Given the description of an element on the screen output the (x, y) to click on. 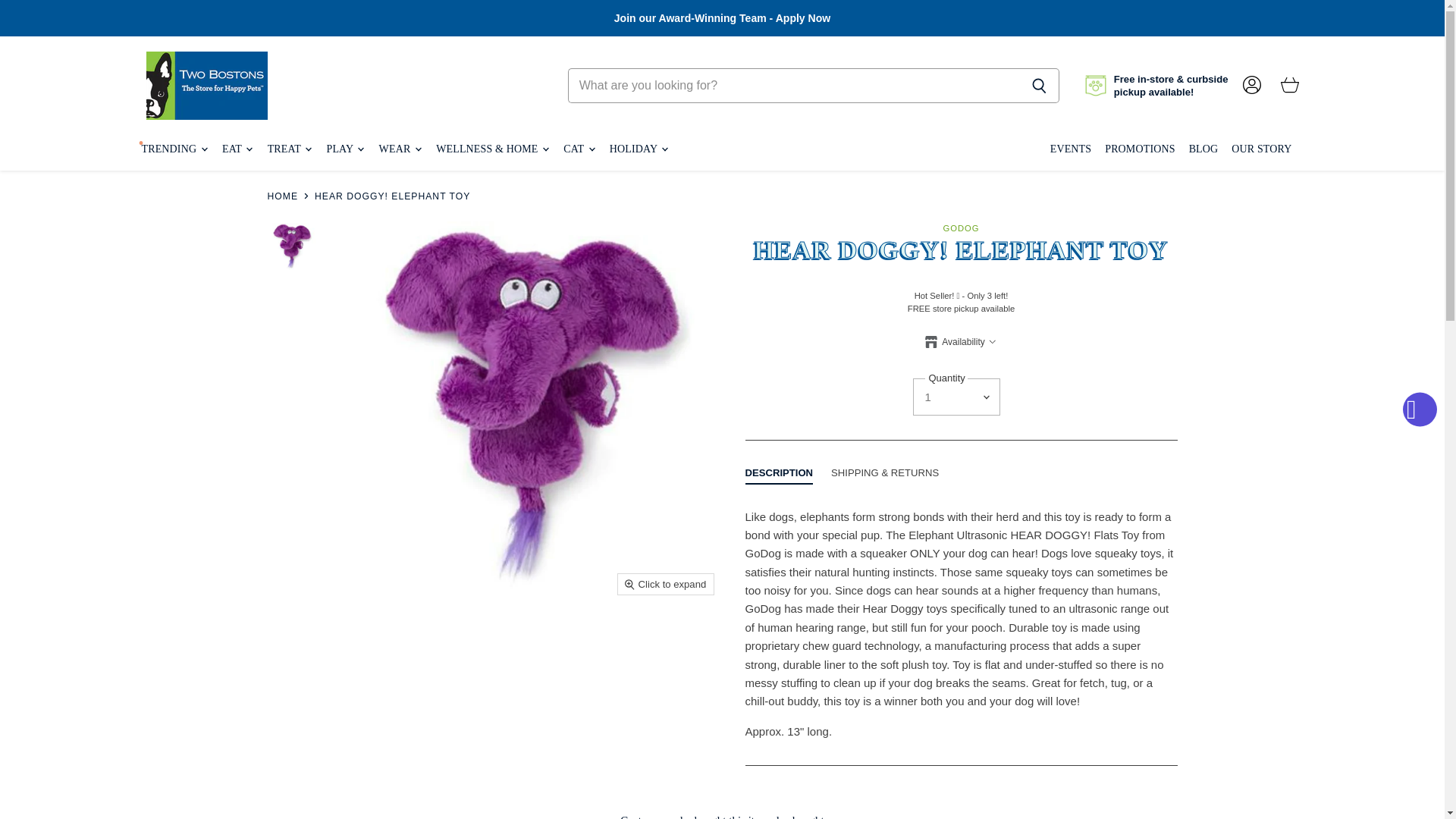
View cart (1289, 85)
TRENDING (173, 148)
EAT (236, 148)
GoDog (960, 227)
